Given the description of an element on the screen output the (x, y) to click on. 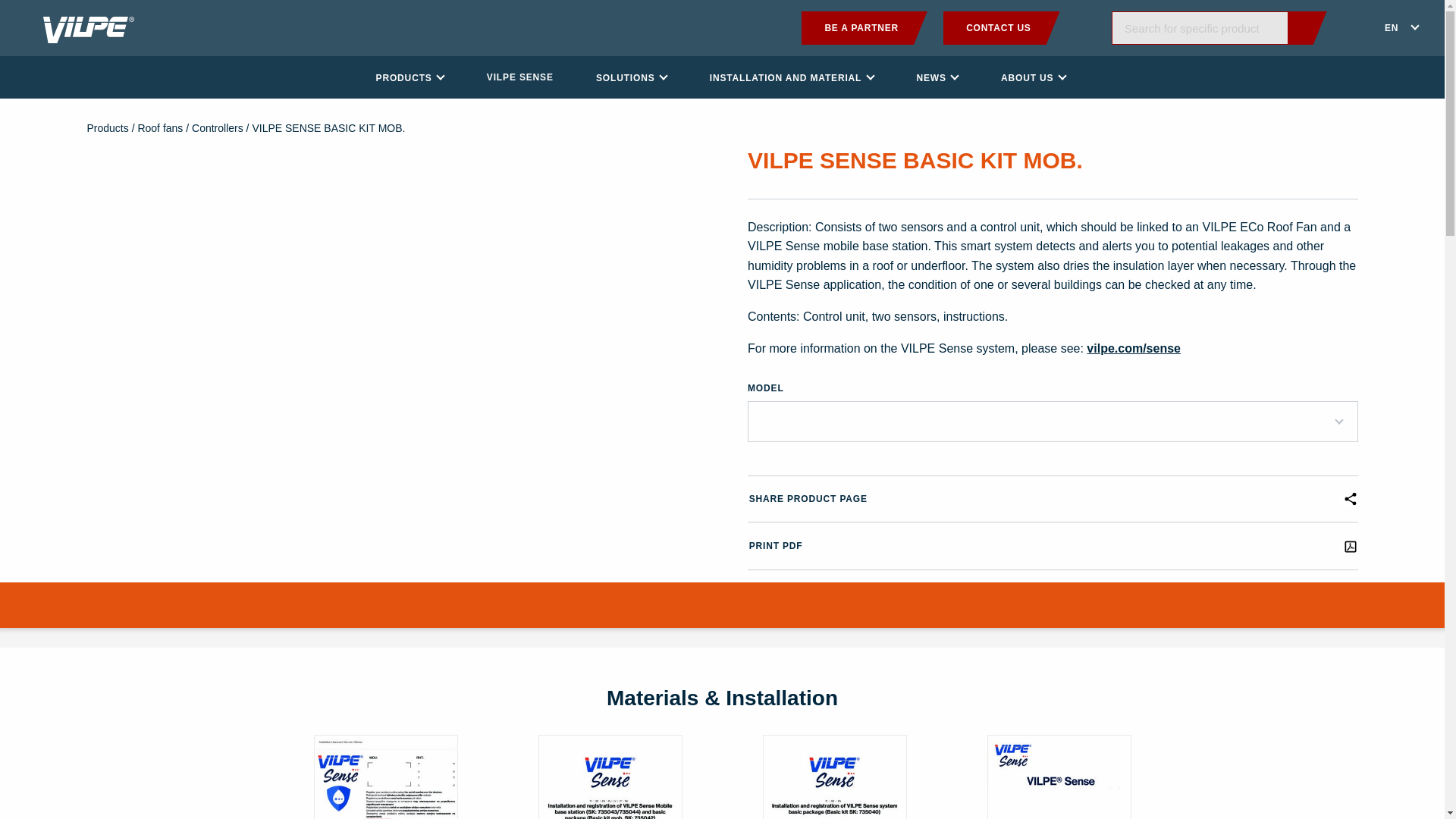
ABOUT US (1032, 77)
CONTACT US (1000, 28)
PRODUCTS (409, 77)
VILPE SENSE (519, 76)
EN (1398, 27)
BE A PARTNER (864, 28)
NEWS (936, 77)
INSTALLATION AND MATERIAL (791, 77)
SOLUTIONS (631, 77)
